Given the description of an element on the screen output the (x, y) to click on. 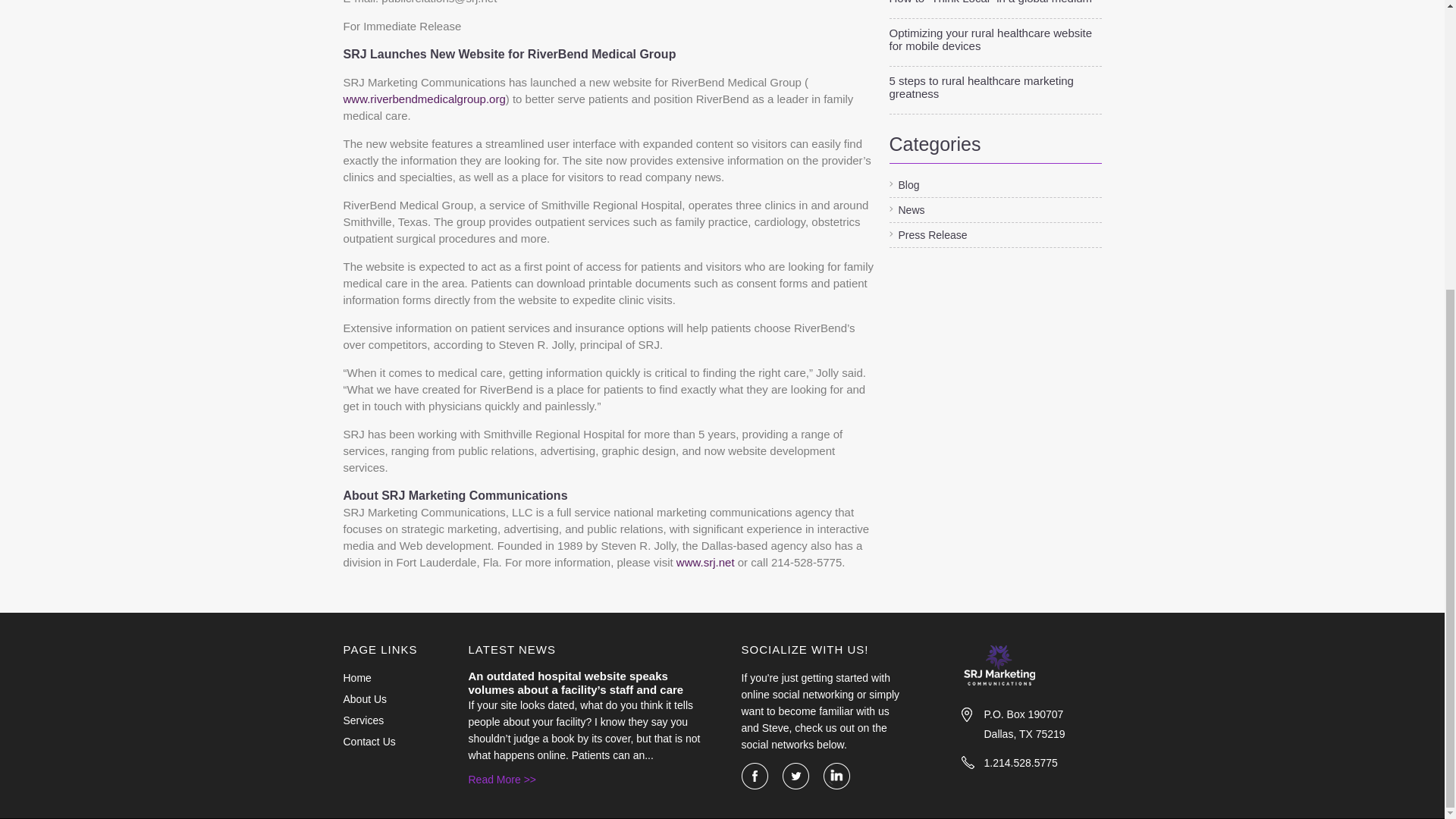
www.srj.net (706, 562)
News (906, 209)
Services (380, 720)
www.riverbendmedicalgroup.org (423, 98)
Contact Us (380, 741)
Home (380, 677)
Blog (903, 184)
Press Release (927, 234)
5 steps to rural healthcare marketing greatness (994, 86)
1.214.528.5775 (1043, 762)
About Us (380, 699)
Optimizing your rural healthcare website for mobile devices (994, 39)
